Given the description of an element on the screen output the (x, y) to click on. 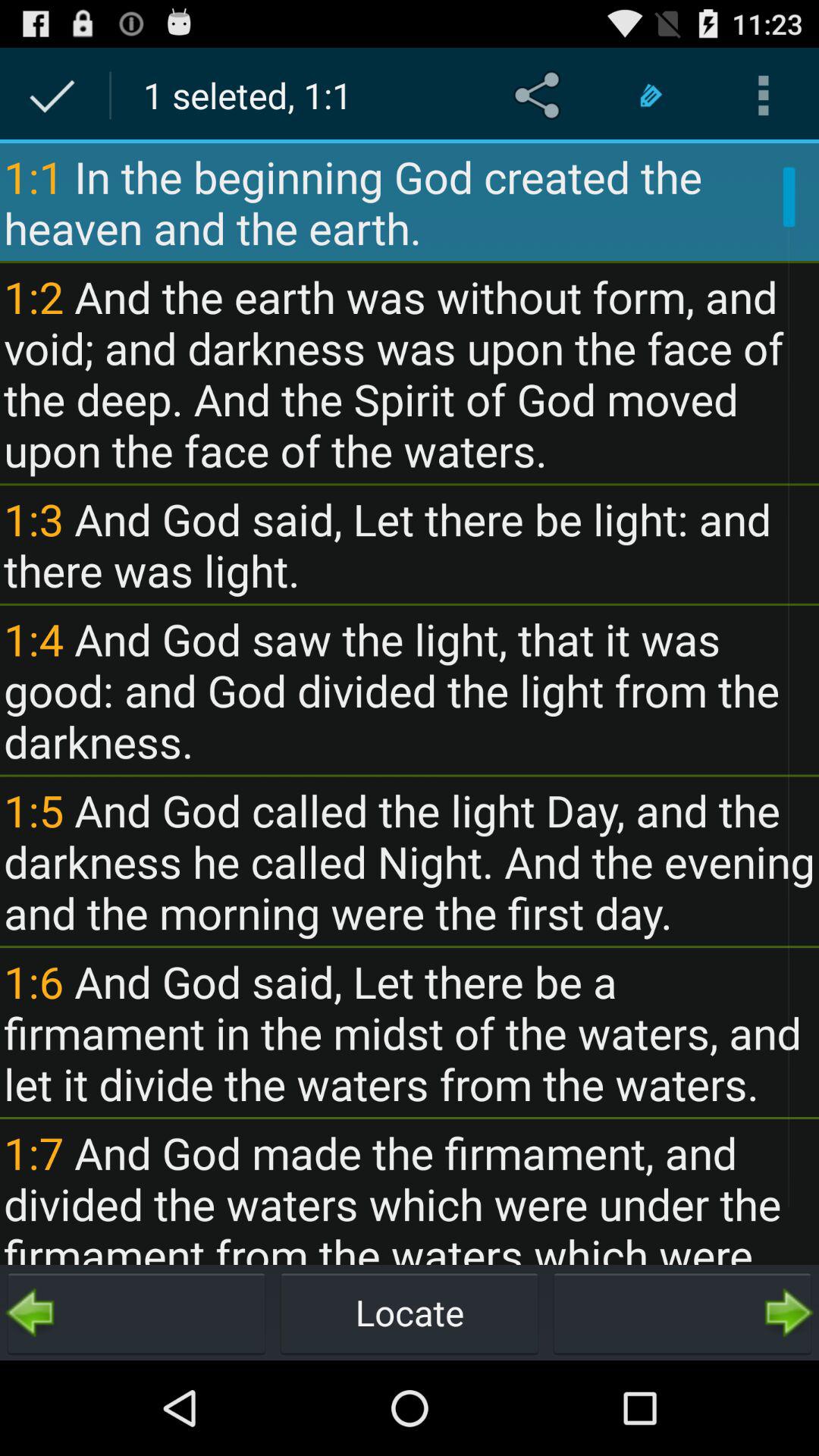
select icon below 1 7 and icon (409, 1312)
